Given the description of an element on the screen output the (x, y) to click on. 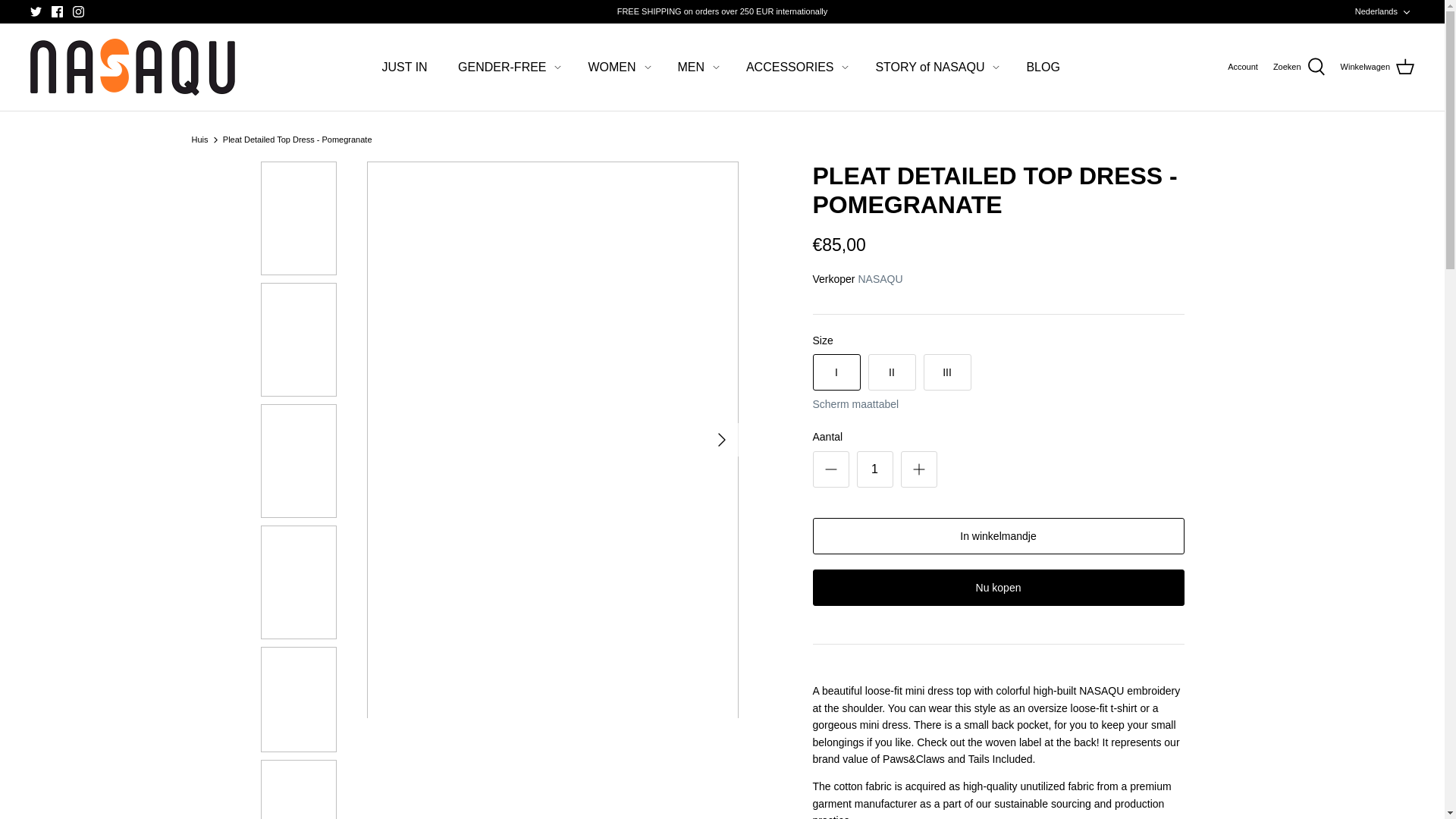
Twitter (36, 11)
Plus (919, 469)
Facebook (56, 11)
Minus (831, 469)
Zoeken (1298, 66)
WOMEN (611, 67)
Facebook (56, 11)
Twitter (36, 11)
BLOG (1042, 67)
1 (875, 469)
